Given the description of an element on the screen output the (x, y) to click on. 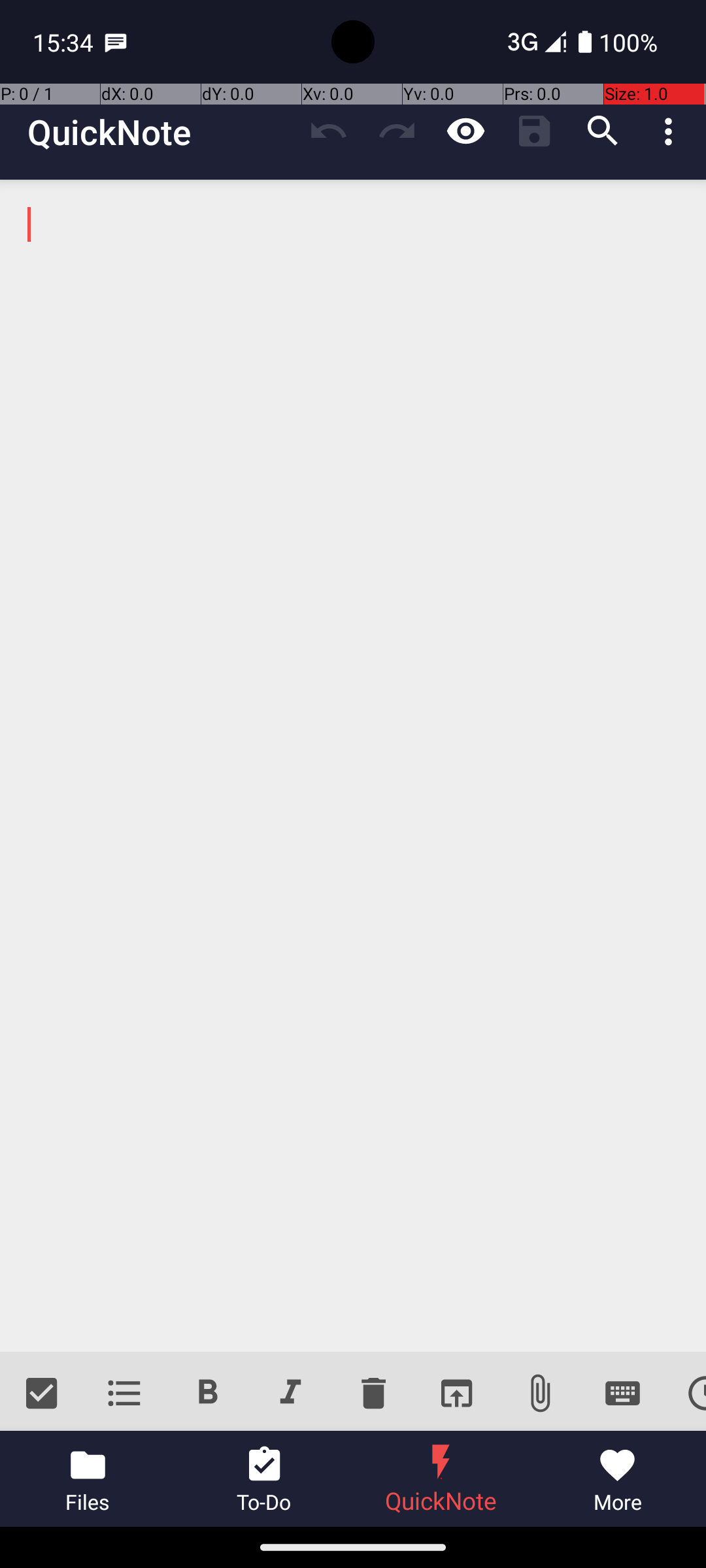
QuickNote Element type: android.widget.TextView (108, 131)
To-Do Element type: android.widget.FrameLayout (264, 1478)
More Element type: android.widget.FrameLayout (617, 1478)
